Given the description of an element on the screen output the (x, y) to click on. 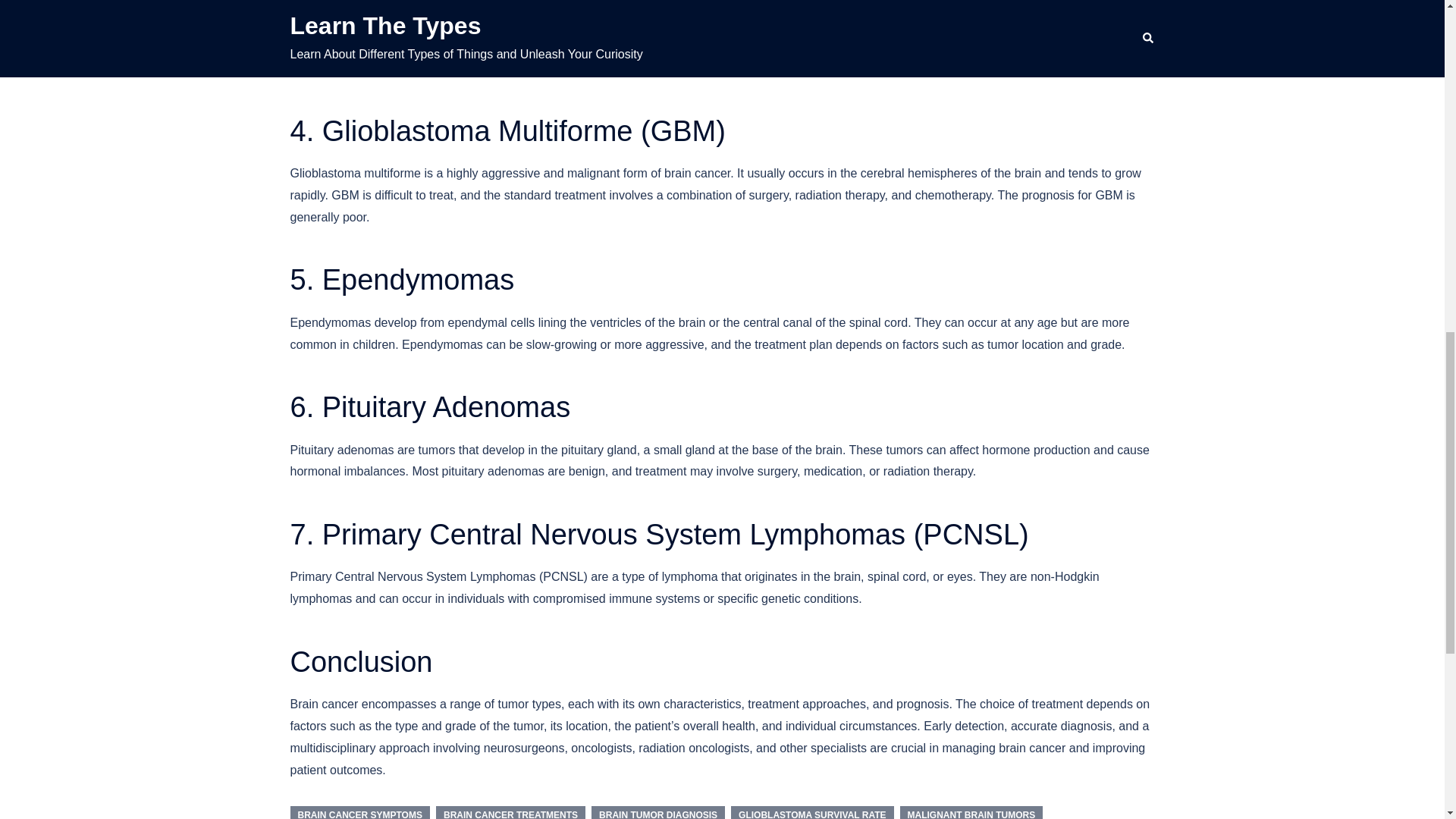
MALIGNANT BRAIN TUMORS (971, 812)
BRAIN TUMOR DIAGNOSIS (658, 812)
GLIOBLASTOMA SURVIVAL RATE (811, 812)
BRAIN CANCER TREATMENTS (510, 812)
BRAIN CANCER SYMPTOMS (359, 812)
